Given the description of an element on the screen output the (x, y) to click on. 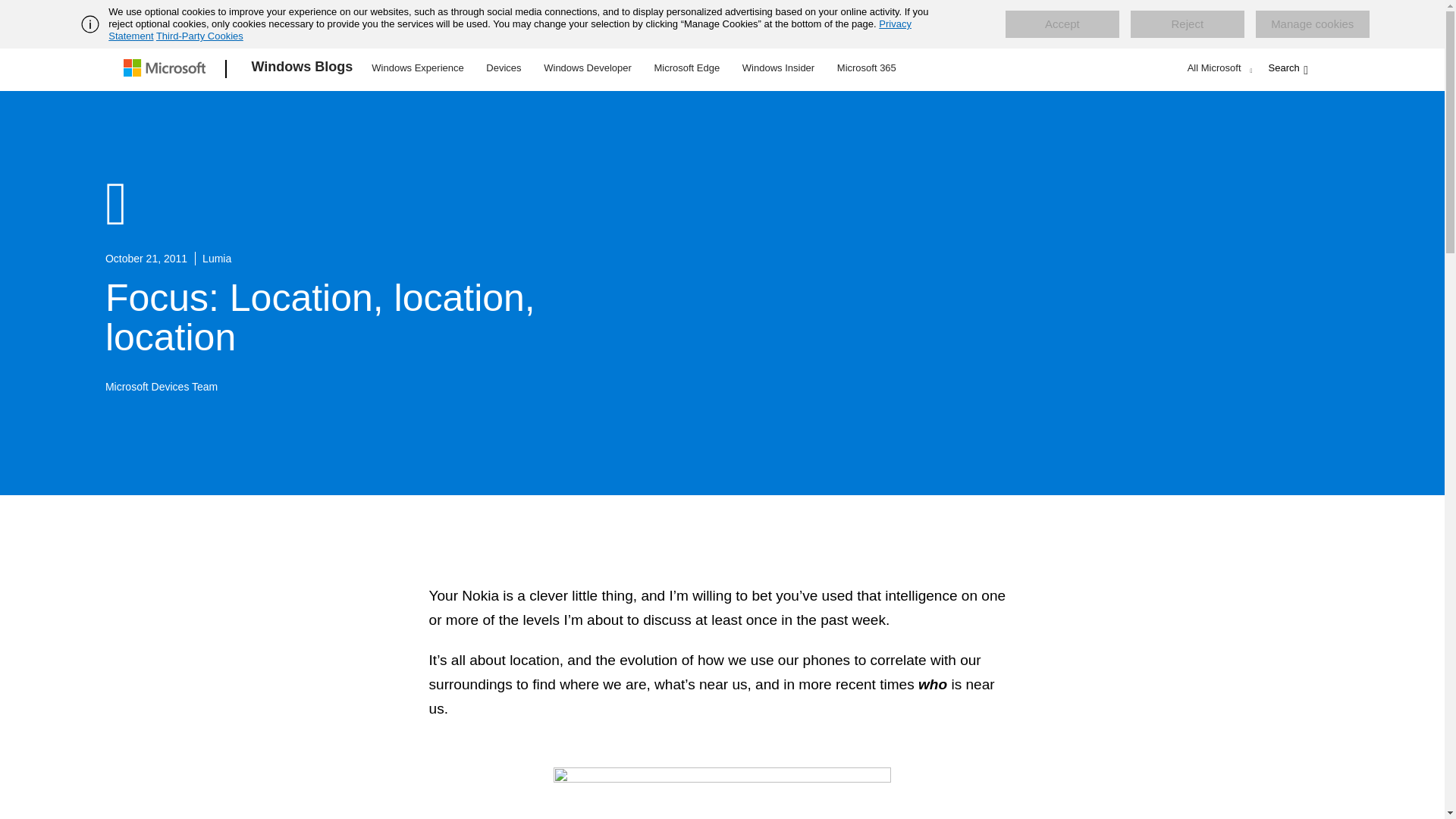
Third-Party Cookies (199, 35)
Reject (1187, 23)
Manage cookies (1312, 23)
All Microsoft (1217, 67)
Windows Developer (588, 67)
Windows Experience (417, 67)
Devices (503, 67)
Microsoft 365 (865, 67)
Microsoft (167, 69)
Privacy Statement (509, 29)
Windows Insider (778, 67)
Microsoft Edge (686, 67)
Accept (1062, 23)
Windows Blogs (302, 69)
